Given the description of an element on the screen output the (x, y) to click on. 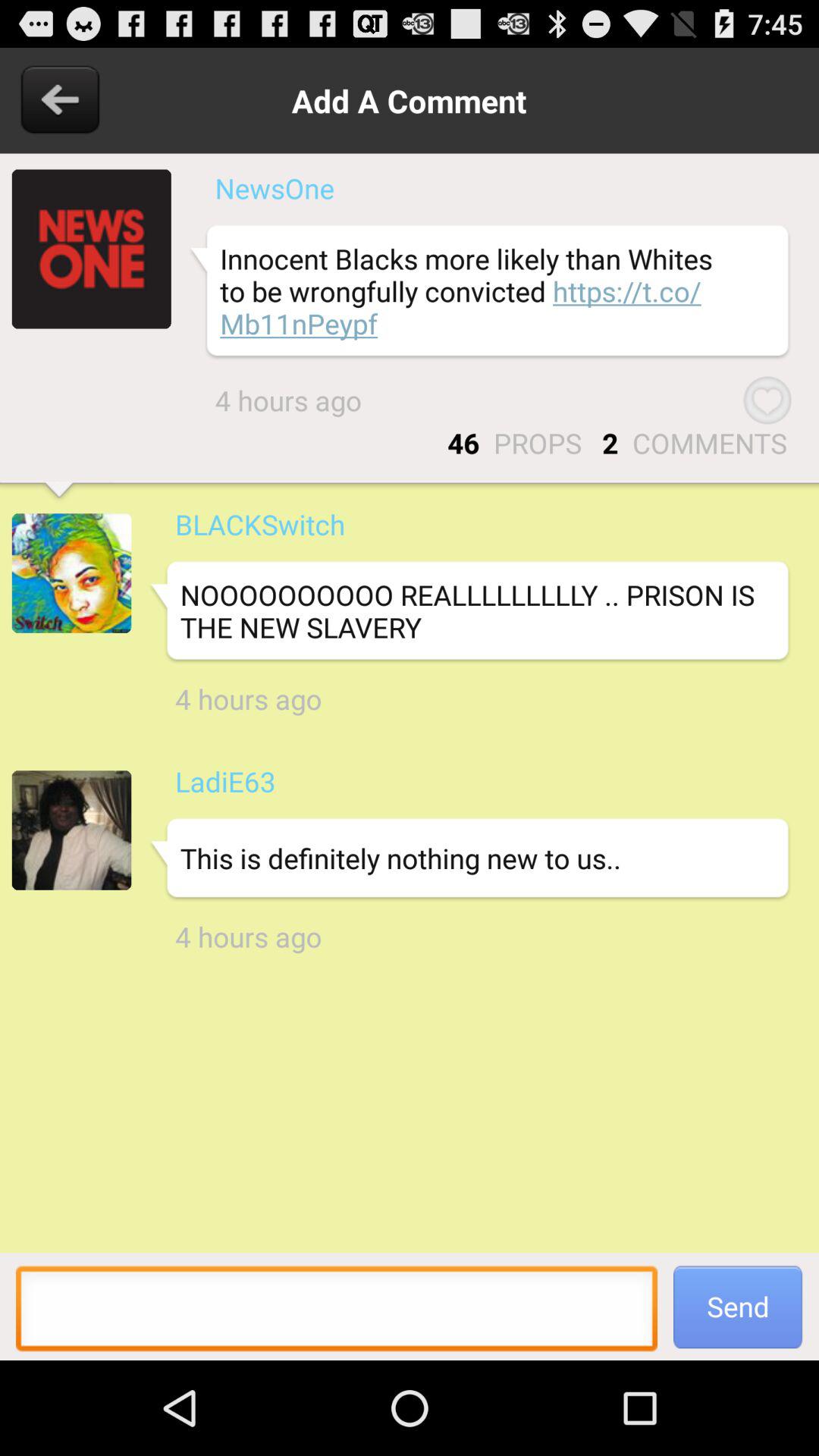
profile picture (71, 573)
